Given the description of an element on the screen output the (x, y) to click on. 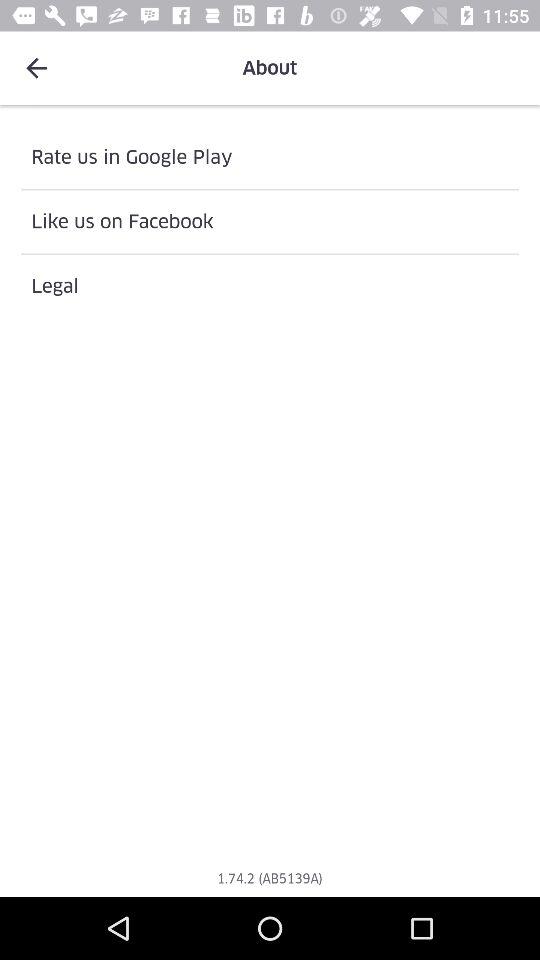
press icon to the left of the about (36, 68)
